Given the description of an element on the screen output the (x, y) to click on. 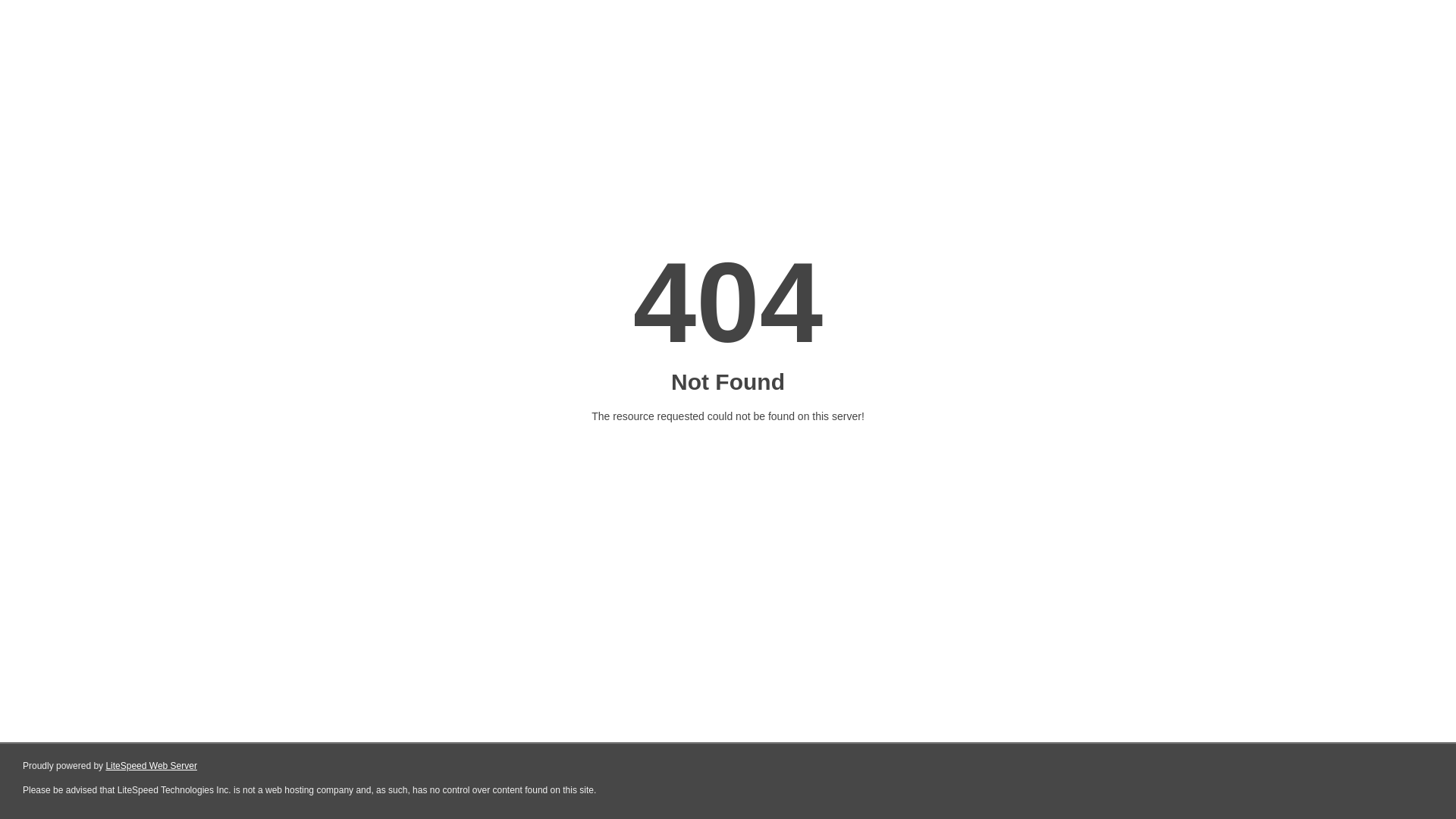
LiteSpeed Web Server Element type: text (151, 765)
